Given the description of an element on the screen output the (x, y) to click on. 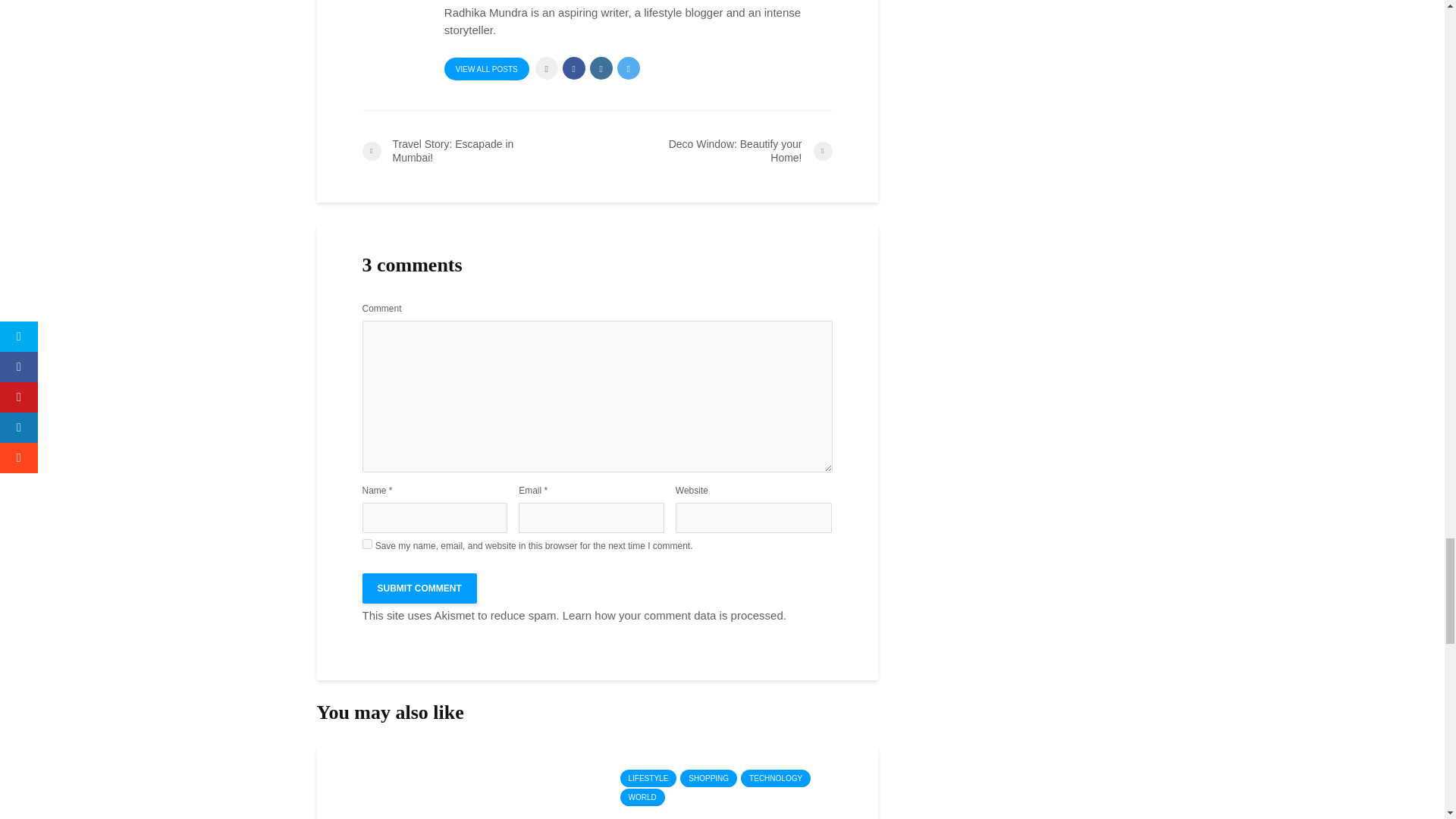
Submit Comment (419, 588)
yes (367, 543)
